Given the description of an element on the screen output the (x, y) to click on. 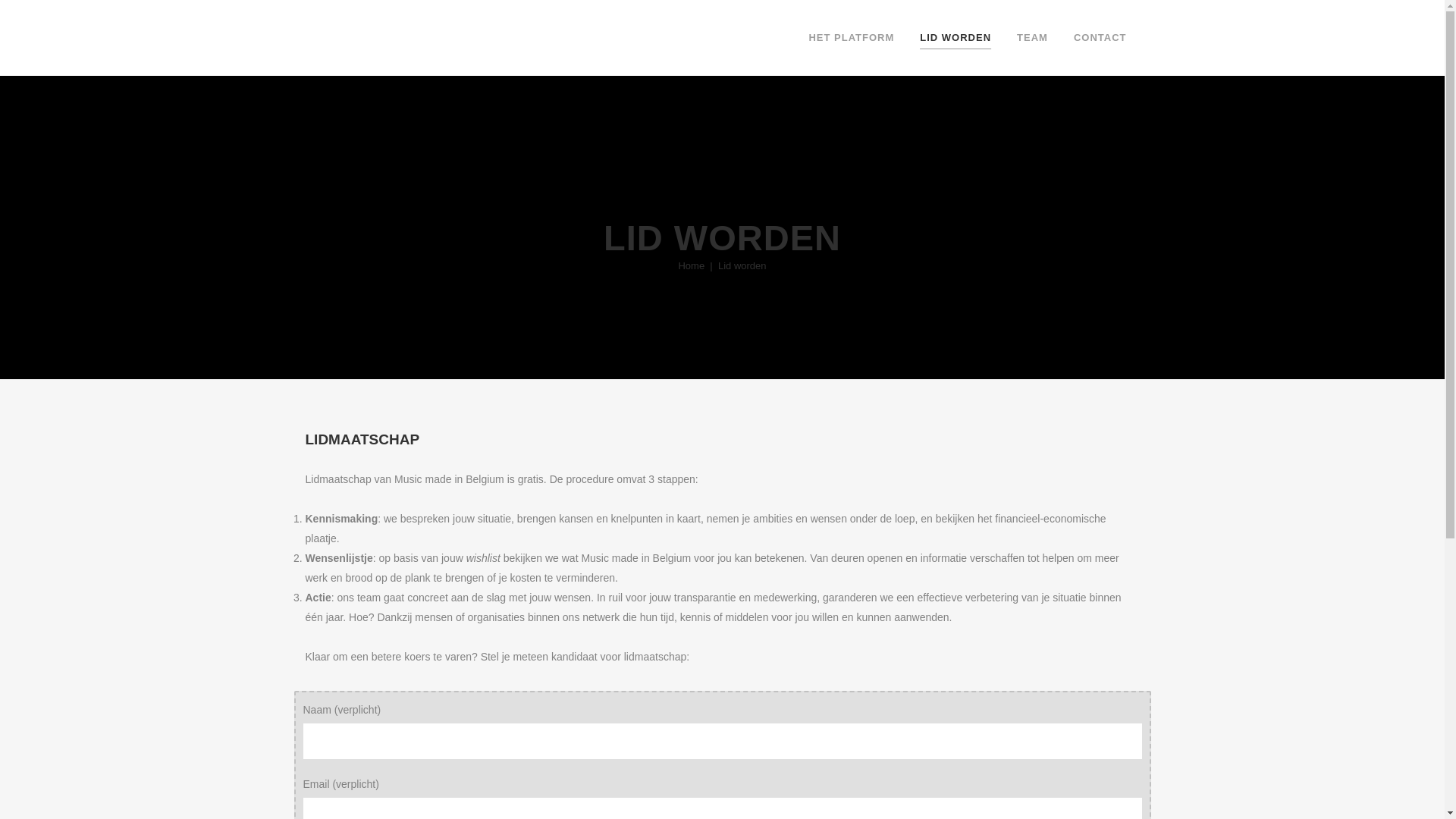
CONTACT Element type: text (1099, 37)
TEAM Element type: text (1032, 37)
HET PLATFORM Element type: text (850, 37)
LID WORDEN Element type: text (955, 37)
Home Element type: text (690, 264)
